Given the description of an element on the screen output the (x, y) to click on. 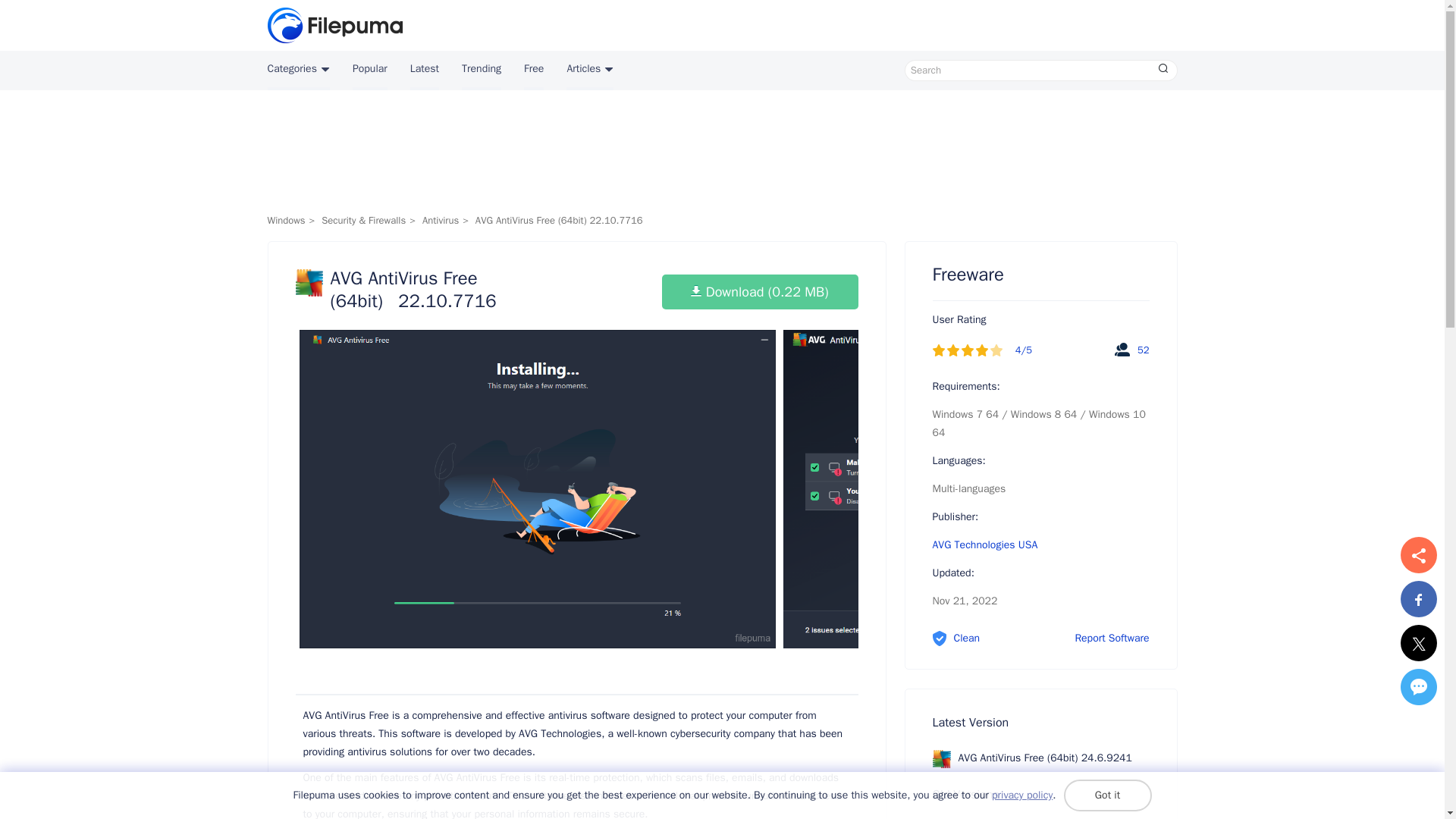
Click to rate (967, 349)
Click to rate (938, 349)
Categories (297, 70)
Click to rate (981, 349)
Click to rate (996, 349)
Click to rate (952, 349)
Advertisement (721, 154)
Articles (589, 70)
Trending (480, 70)
Windows (285, 219)
Antivirus (440, 219)
